Given the description of an element on the screen output the (x, y) to click on. 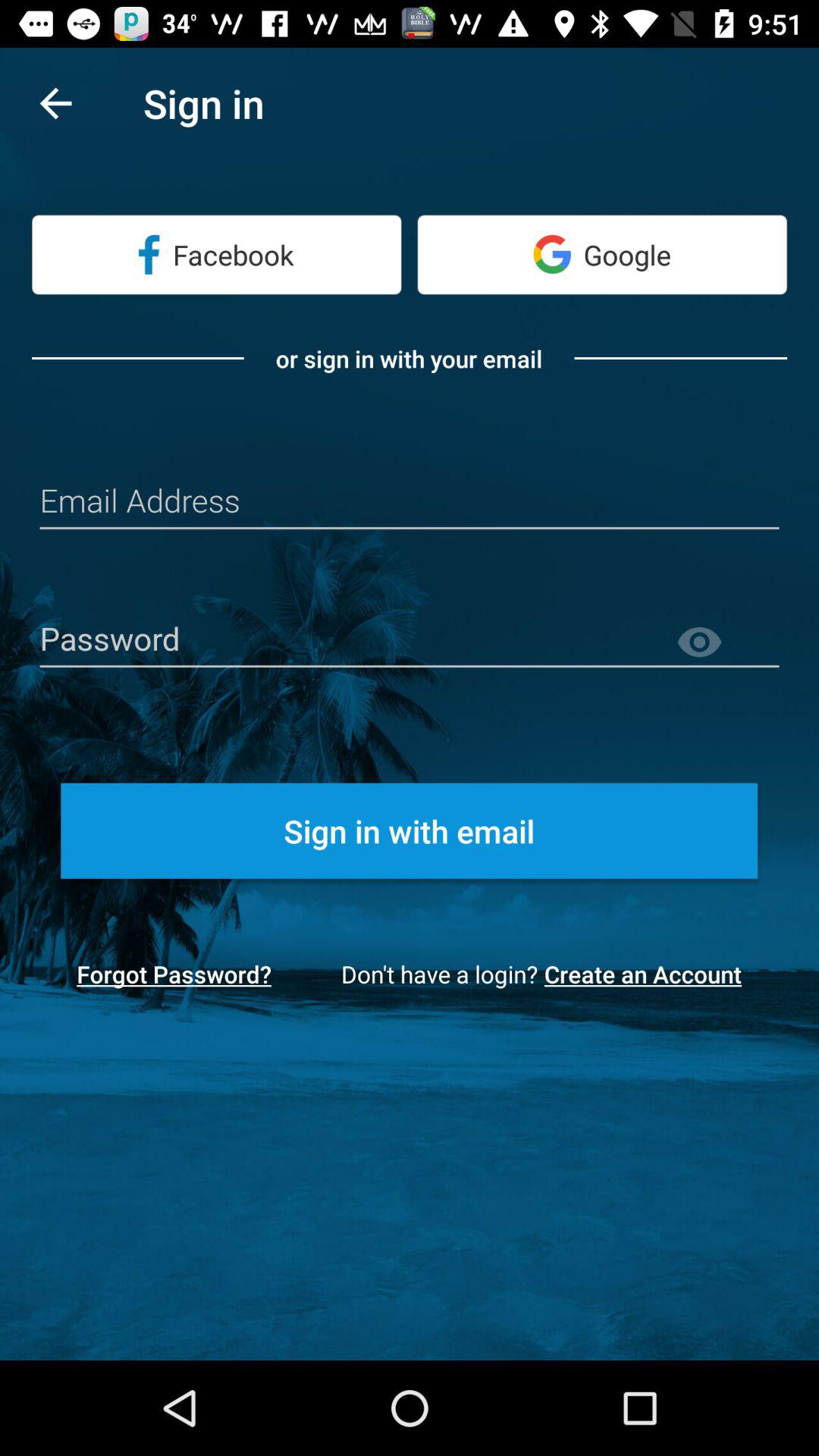
enter email (409, 502)
